Given the description of an element on the screen output the (x, y) to click on. 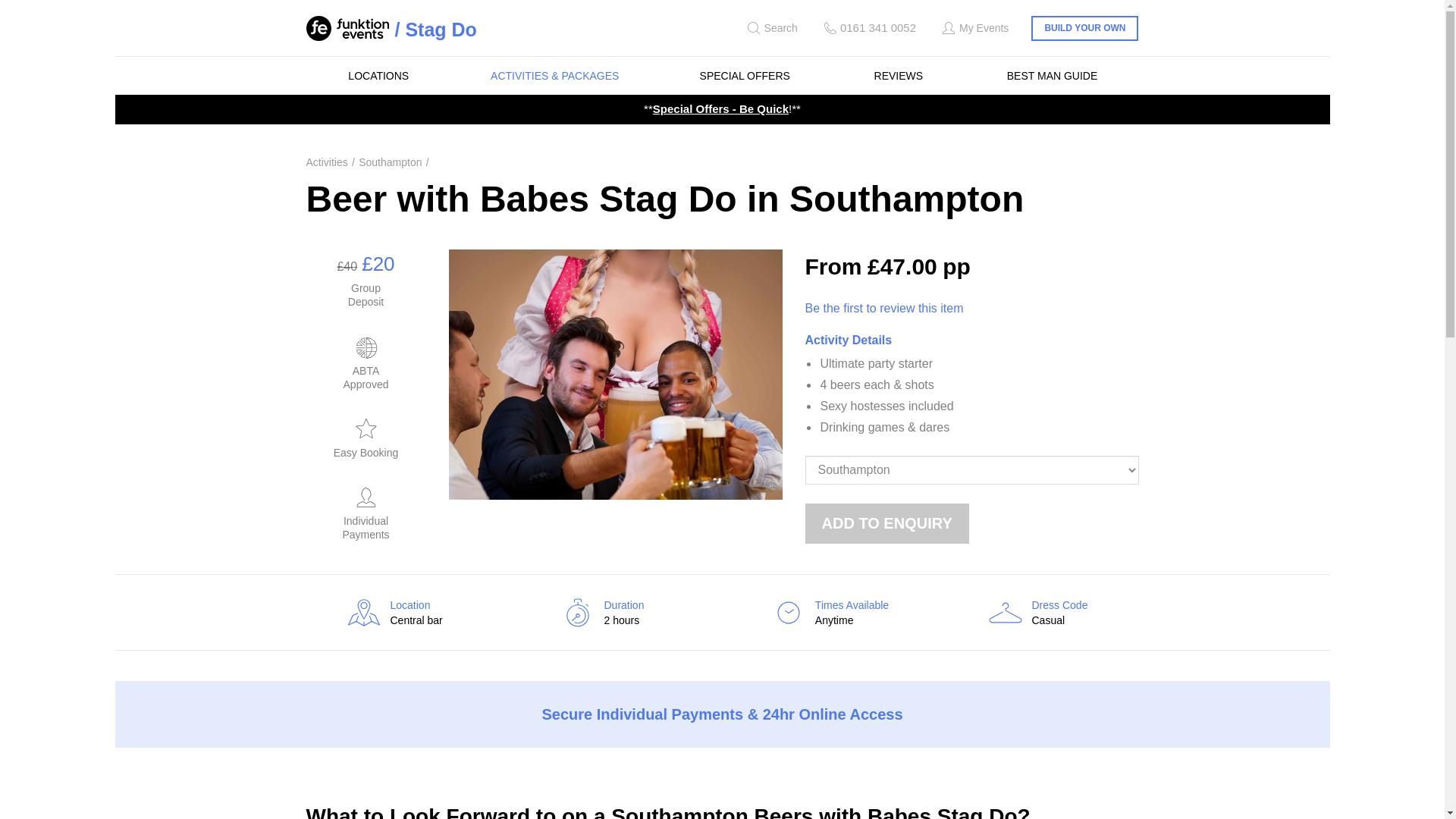
REVIEWS (898, 75)
Find event you are looking for (770, 28)
Add to enquiry (887, 523)
Search (770, 28)
My Events (974, 28)
SPECIAL OFFERS (744, 75)
Stag Do (435, 29)
BEST MAN GUIDE (1052, 75)
0161 341 0052 (868, 28)
LOCATIONS (378, 75)
